Given the description of an element on the screen output the (x, y) to click on. 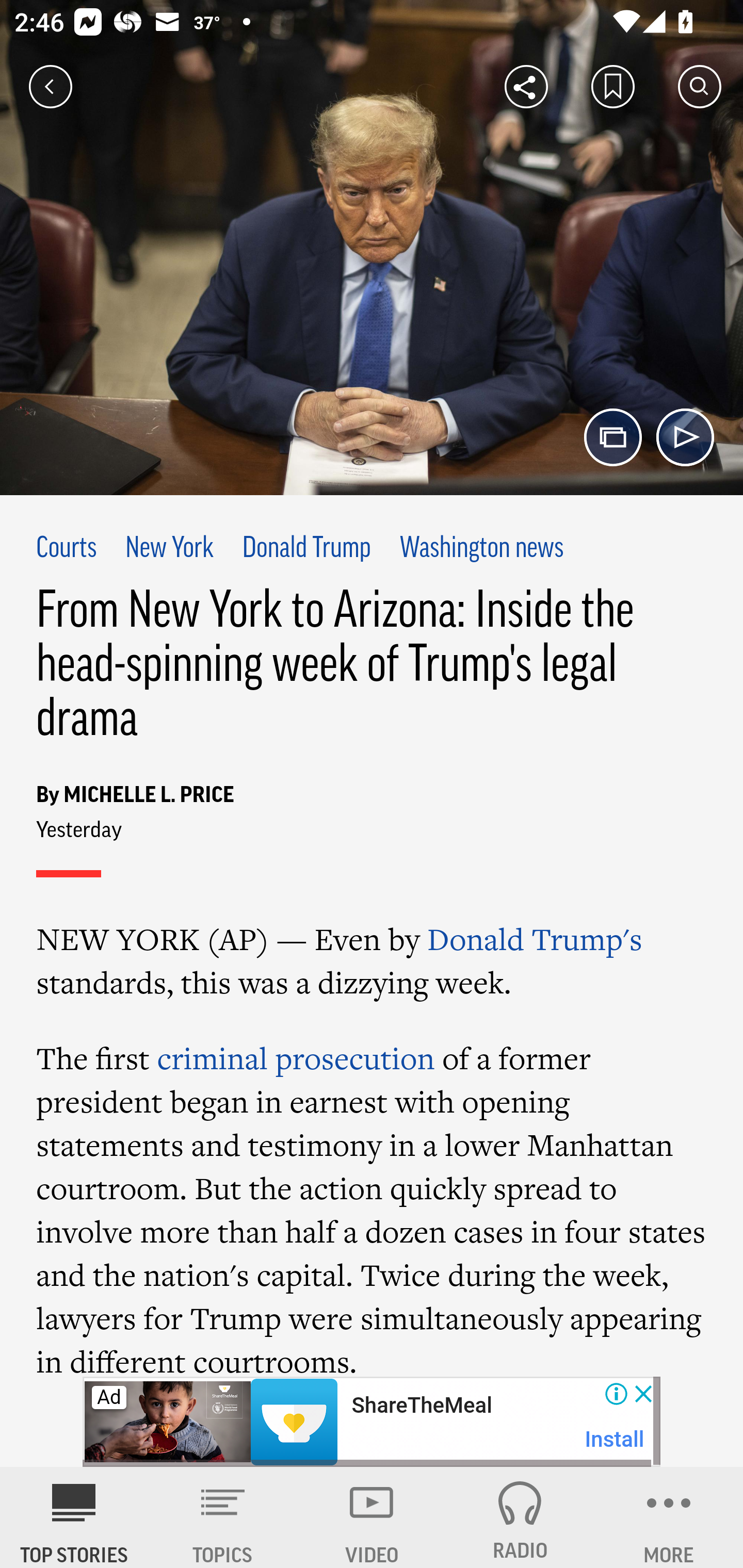
Courts (66, 549)
New York (169, 549)
Donald Trump (307, 549)
Washington news (481, 549)
Donald Trump's (534, 939)
criminal prosecution (294, 1058)
ShareTheMeal (420, 1405)
Install (614, 1438)
AP News TOP STORIES (74, 1517)
TOPICS (222, 1517)
VIDEO (371, 1517)
RADIO (519, 1517)
MORE (668, 1517)
